Given the description of an element on the screen output the (x, y) to click on. 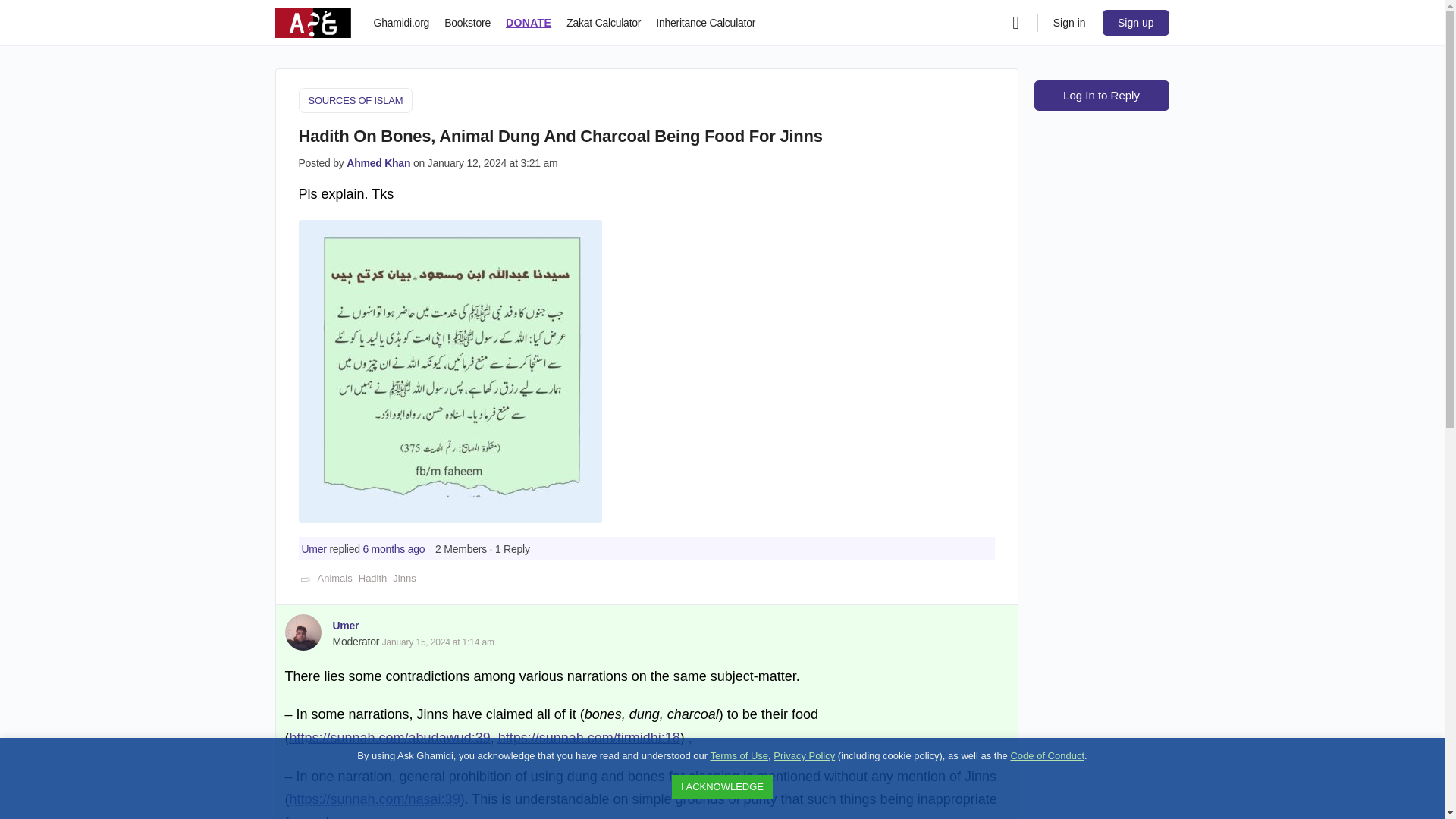
Ahmed Khan (378, 162)
Hadith (372, 577)
6 months ago (393, 548)
SOURCES OF ISLAM (355, 100)
Jinns (403, 577)
View Umer's profile (313, 548)
Ghamidi.org (400, 22)
Animals (334, 577)
DONATE (528, 22)
View Ahmed Khan's profile (378, 162)
Sign in (1068, 22)
View Umer's profile (344, 625)
Sign up (1135, 22)
Zakat Calculator (603, 22)
